Given the description of an element on the screen output the (x, y) to click on. 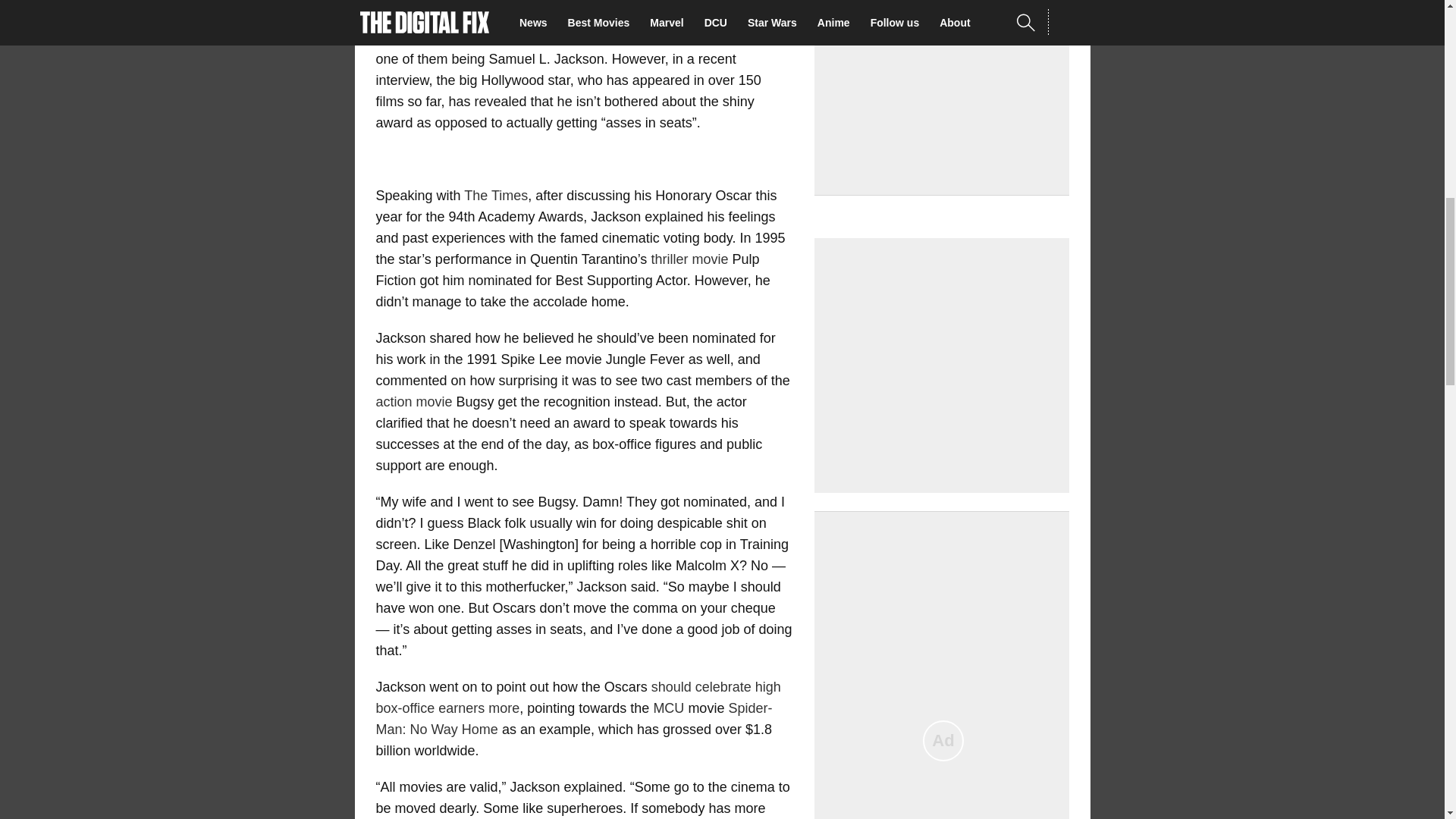
Academy Awards (724, 37)
The Times (495, 195)
should celebrate high box-office earners more (577, 697)
thriller movie (689, 258)
action movie (413, 401)
MCU (669, 708)
